Given the description of an element on the screen output the (x, y) to click on. 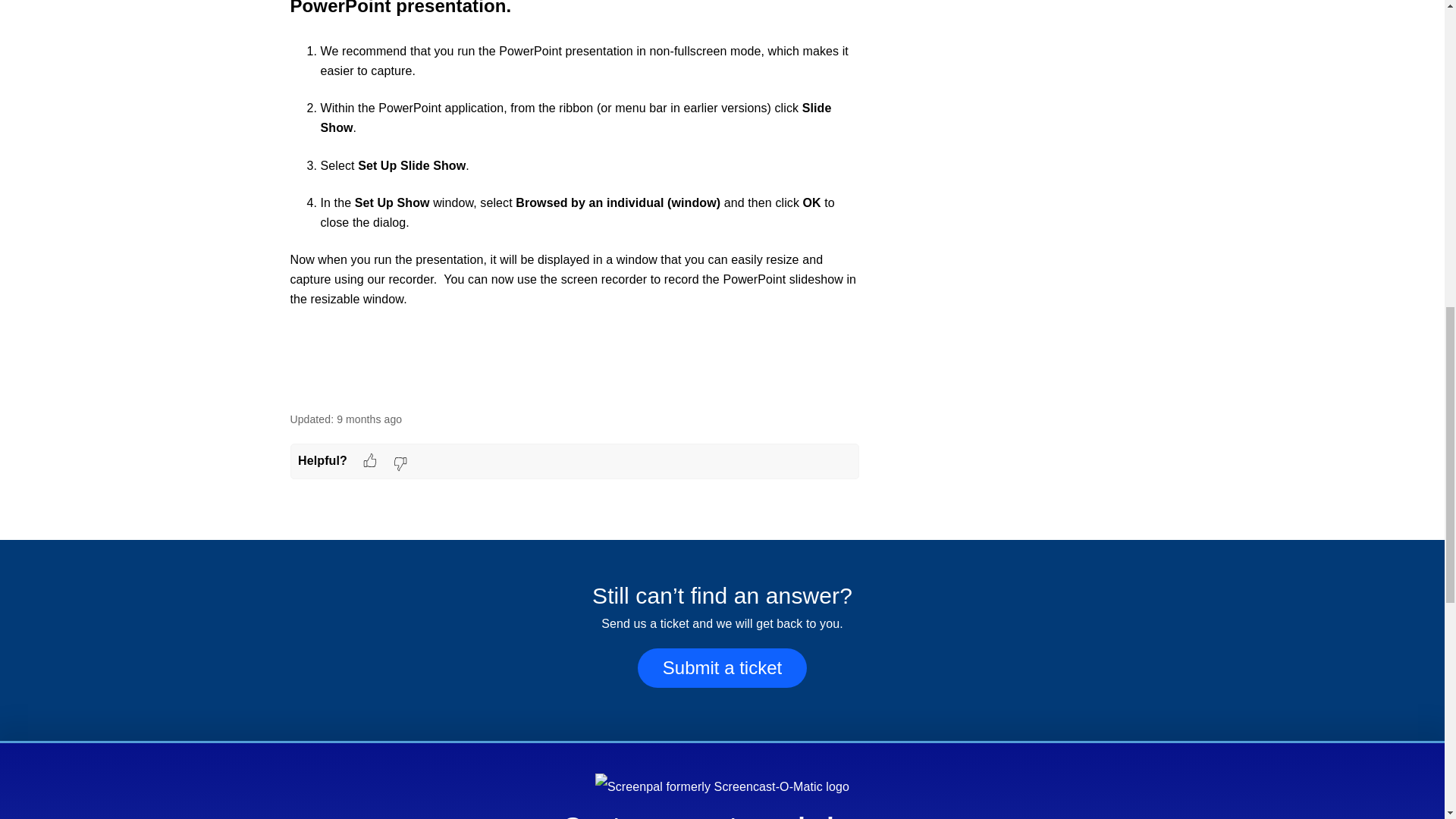
Submit a ticket (721, 667)
Submit a ticket (721, 669)
06 Oct 2023 02:17 AM (368, 419)
